Given the description of an element on the screen output the (x, y) to click on. 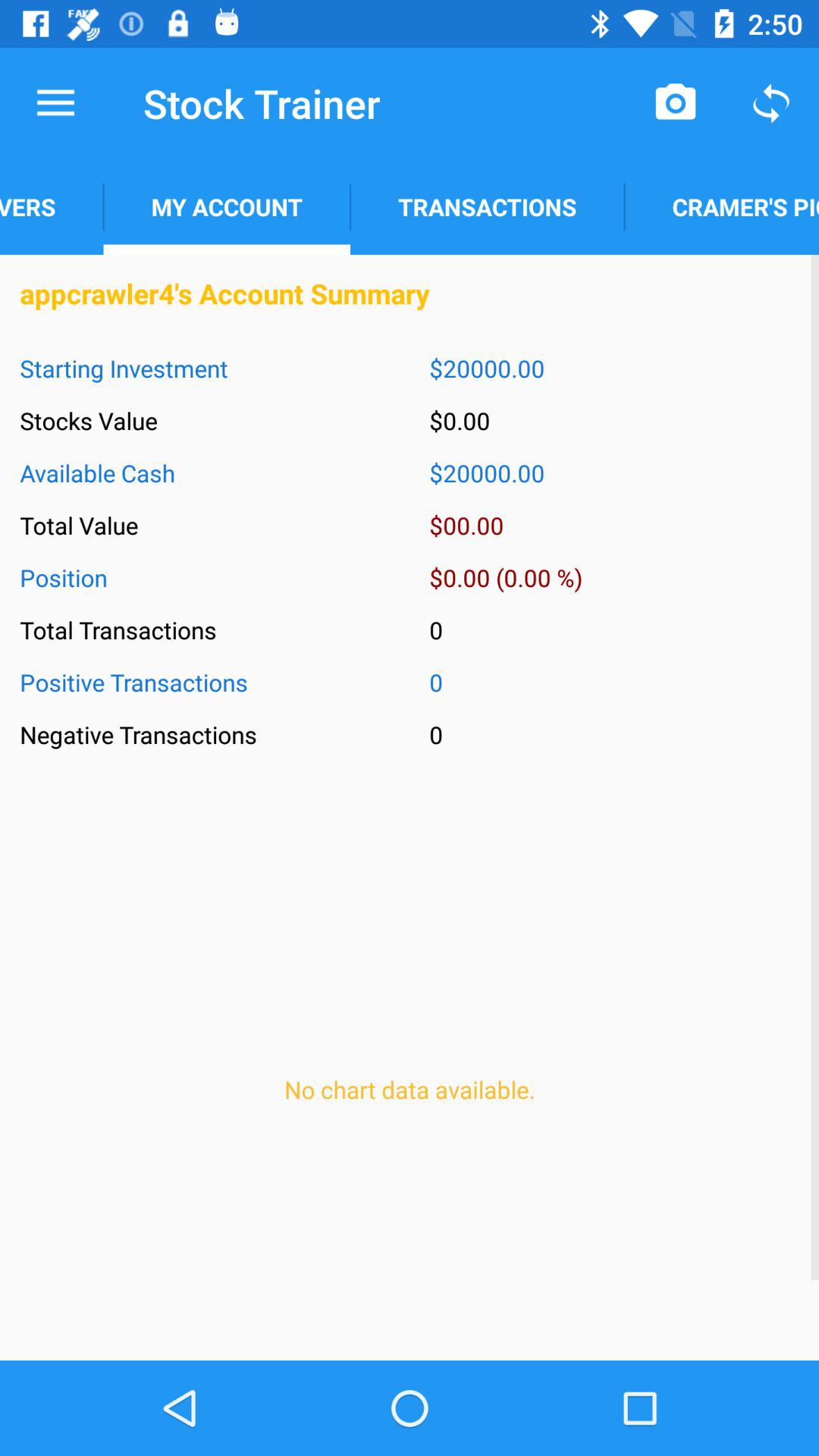
flip until the cramer's picks icon (721, 206)
